Given the description of an element on the screen output the (x, y) to click on. 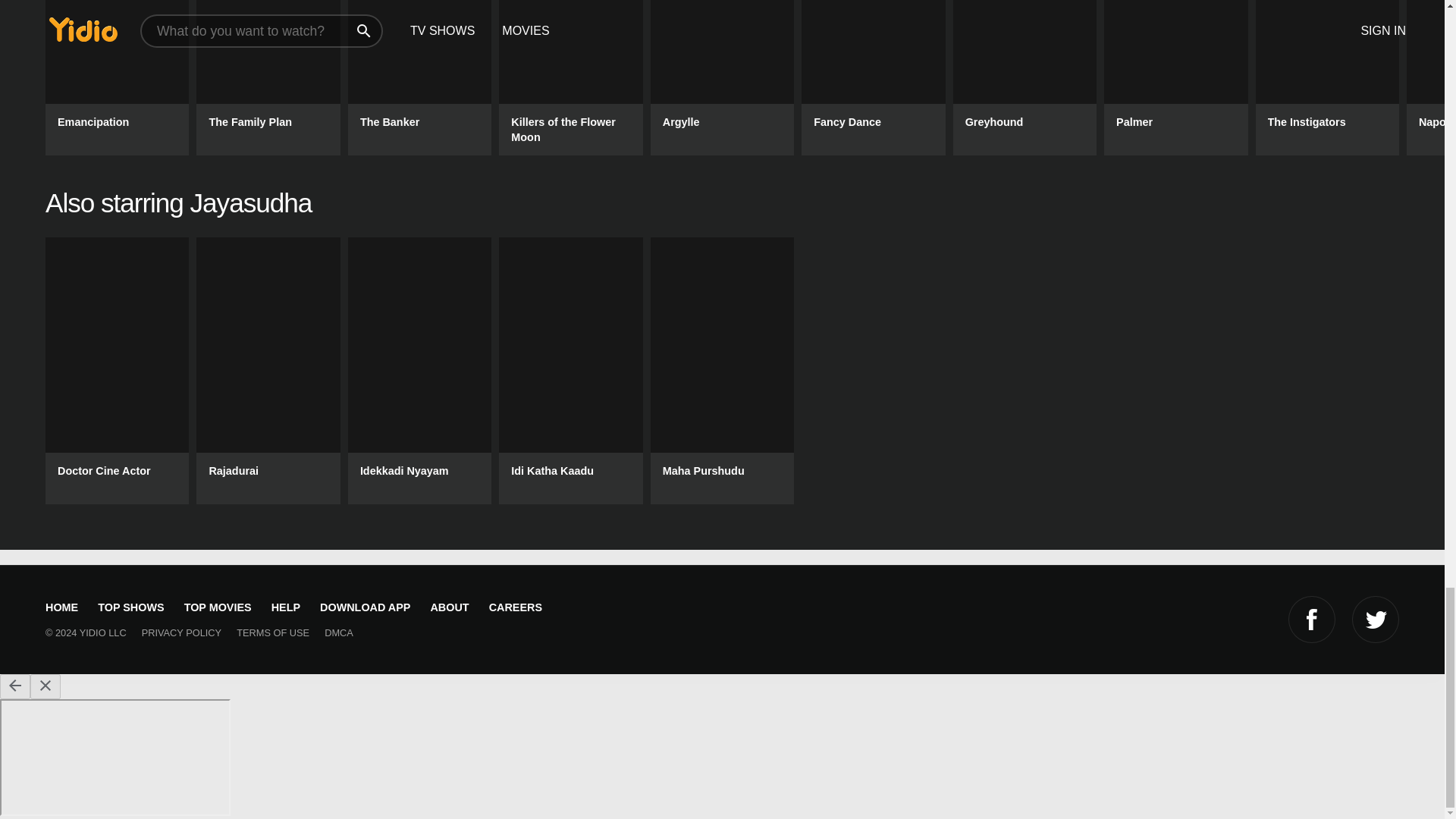
Greyhound (1024, 77)
Palmer (1175, 77)
Emancipation (117, 77)
The Instigators (1327, 77)
Argylle (721, 77)
The Banker (419, 77)
Twitter (1375, 619)
Killers of the Flower Moon (570, 77)
Facebook (1311, 619)
The Family Plan (267, 77)
